Given the description of an element on the screen output the (x, y) to click on. 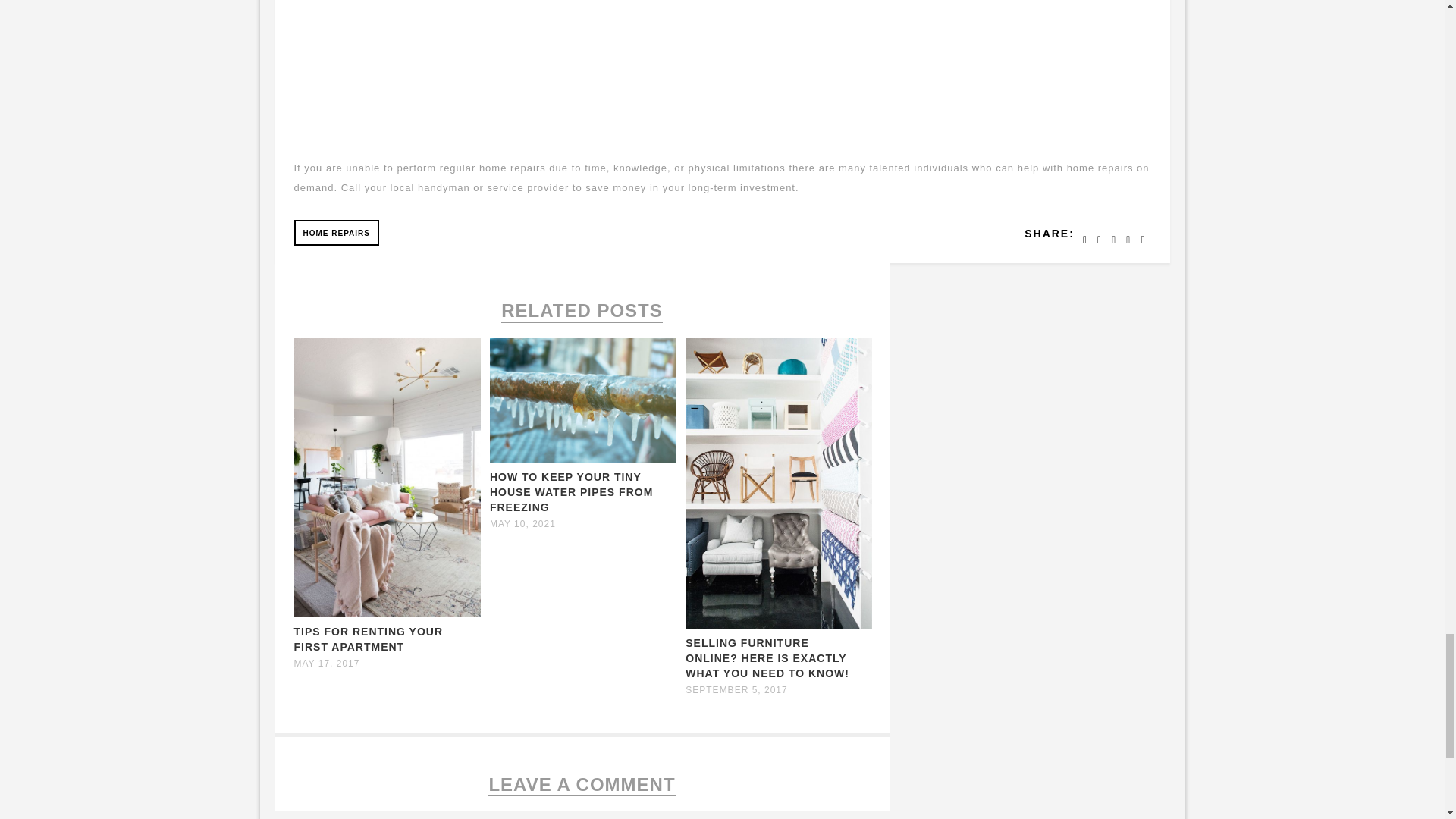
MAY 10, 2021 (522, 523)
TIPS FOR RENTING YOUR FIRST APARTMENT (369, 638)
Permanent Link to Tips for Renting Your First Apartment (387, 613)
HOME REPAIRS (337, 232)
Permanent Link to Tips for Renting Your First Apartment (369, 638)
MAY 17, 2017 (326, 663)
HOW TO KEEP YOUR TINY HOUSE WATER PIPES FROM FREEZING (570, 491)
